Given the description of an element on the screen output the (x, y) to click on. 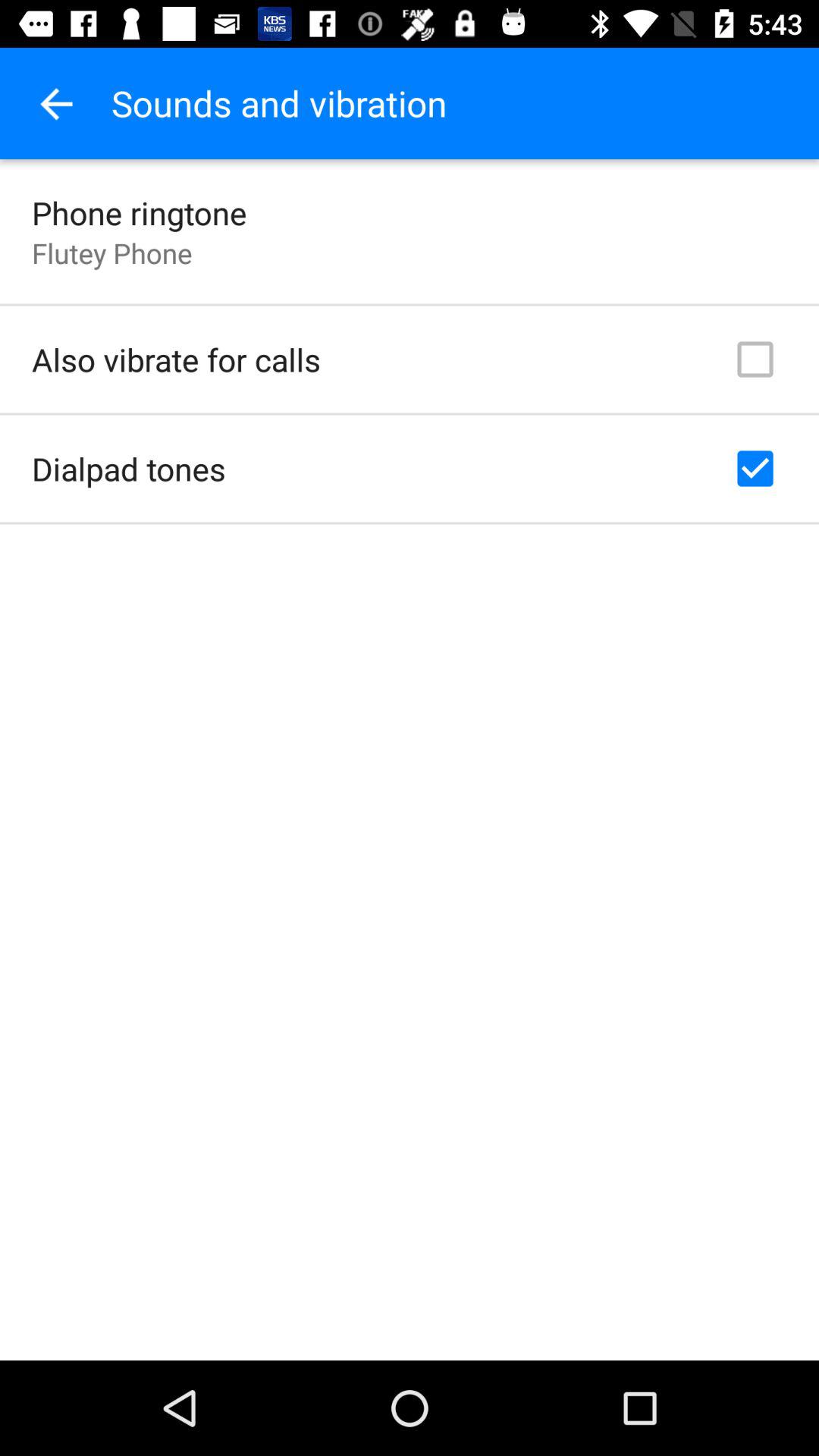
scroll to dialpad tones (128, 468)
